Given the description of an element on the screen output the (x, y) to click on. 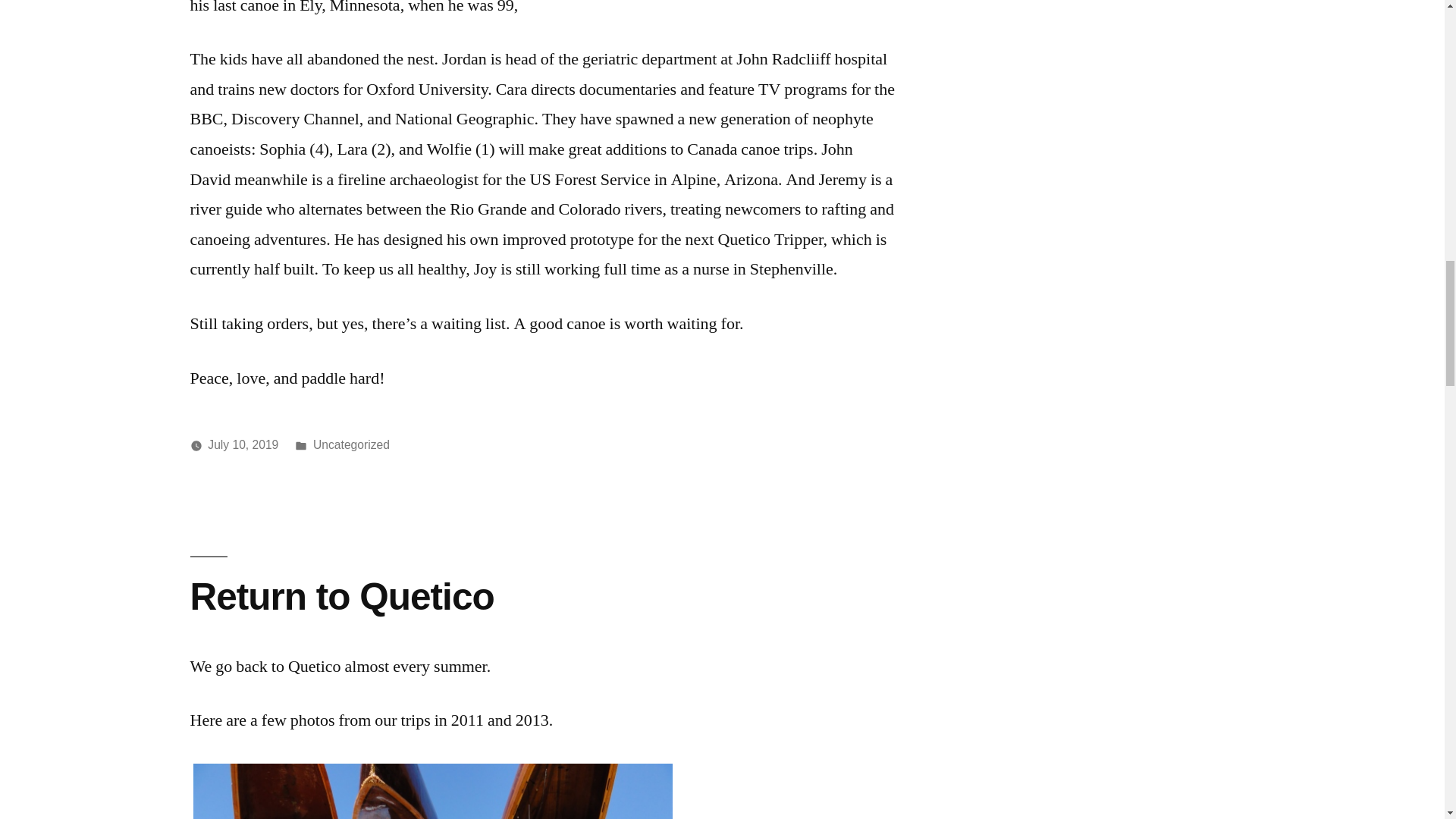
DSC00657 (432, 789)
Return to Quetico (341, 596)
Uncategorized (351, 444)
July 10, 2019 (243, 444)
